Given the description of an element on the screen output the (x, y) to click on. 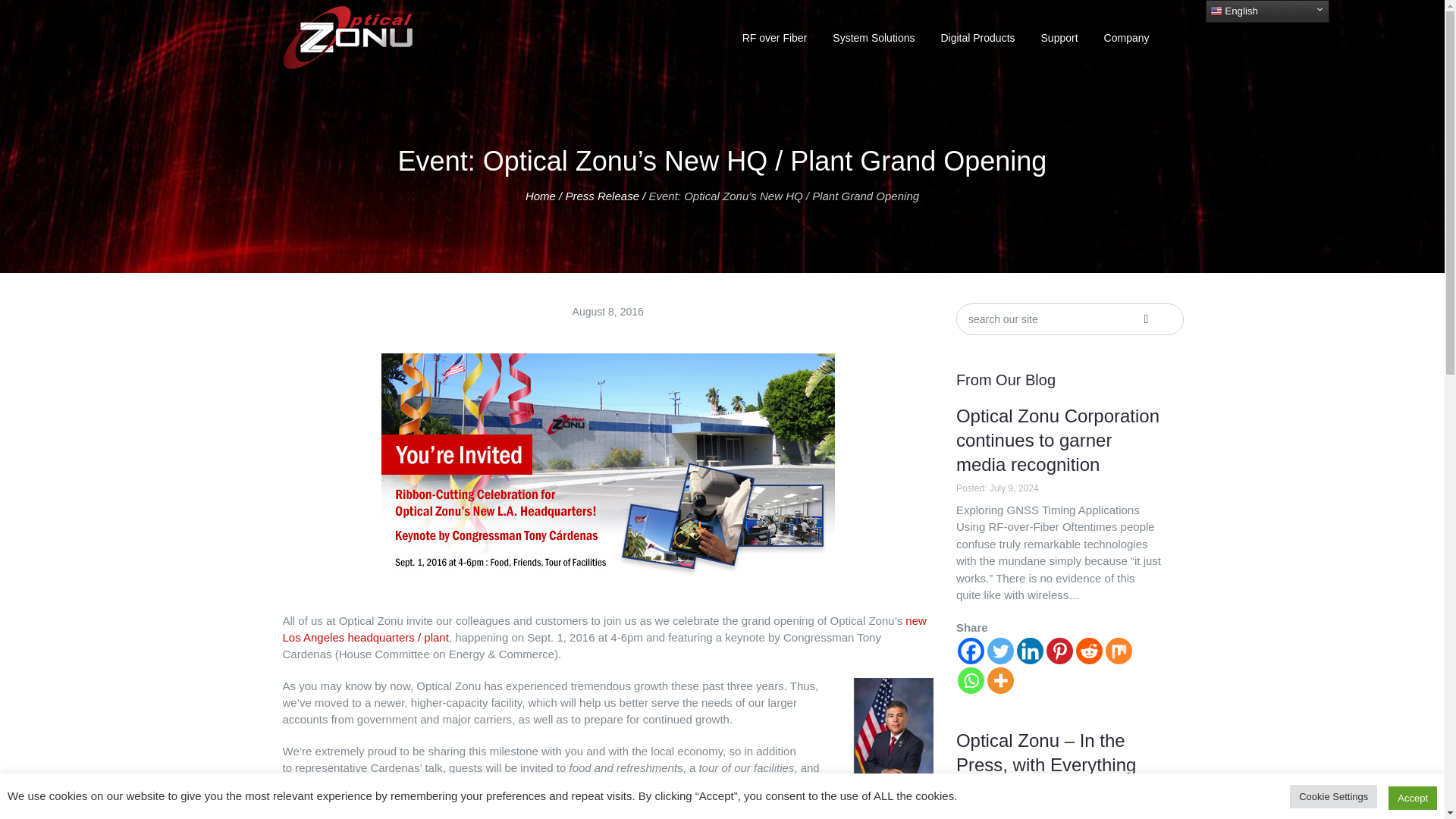
System Solutions (873, 37)
August 8, 2016 (607, 311)
RF over Fiber (775, 37)
Twitter (1000, 651)
Facebook (971, 651)
